Given the description of an element on the screen output the (x, y) to click on. 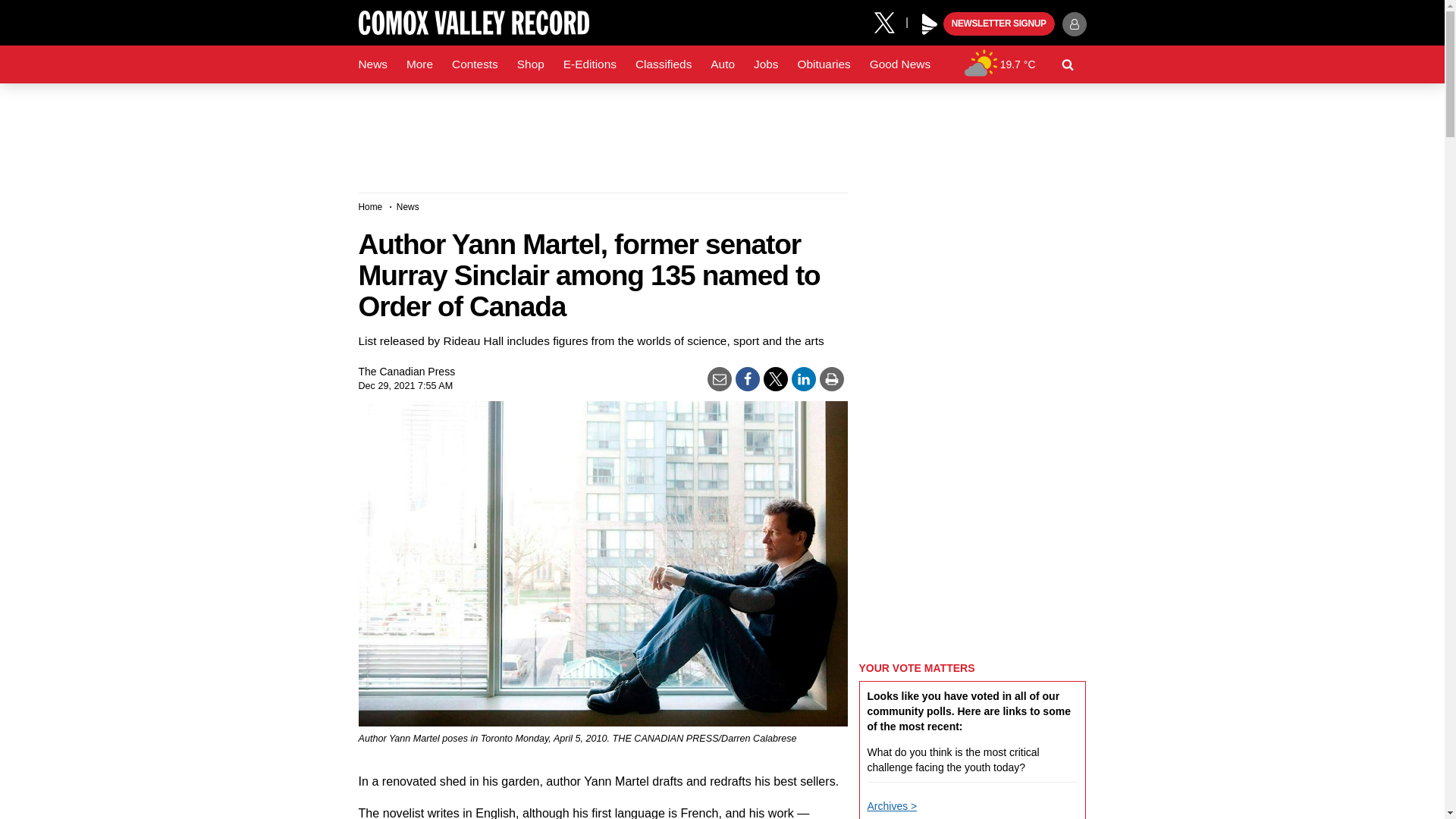
News (372, 64)
X (889, 21)
3rd party ad content (721, 131)
Play (929, 24)
NEWSLETTER SIGNUP (998, 24)
Black Press Media (929, 24)
